Given the description of an element on the screen output the (x, y) to click on. 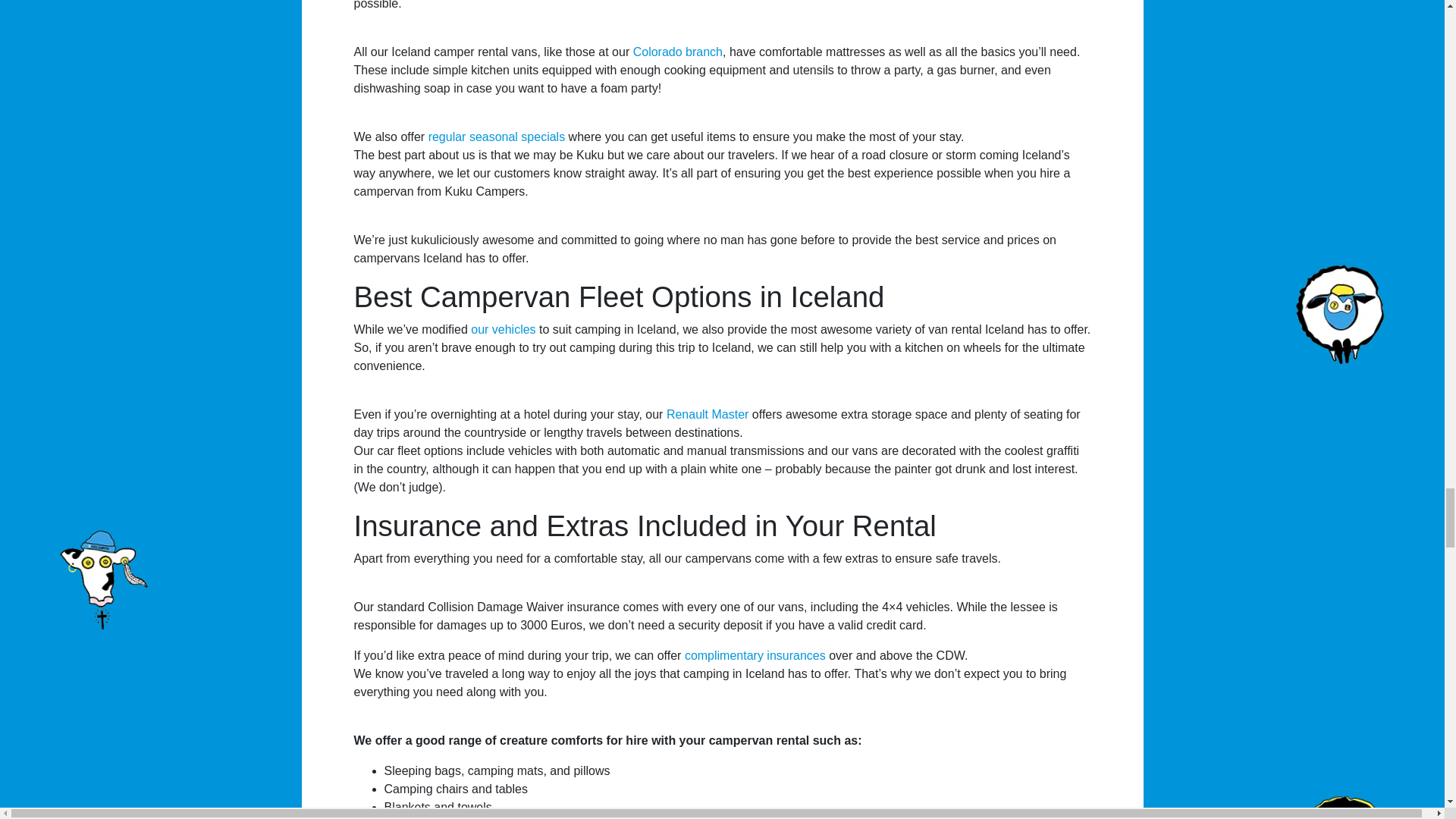
complimentary camper rental insurances (754, 655)
Kuku Campers fleet (502, 328)
regular seasonal specials (497, 136)
Renault Master camper (707, 413)
Kuku Campers Colorado (677, 51)
